Given the description of an element on the screen output the (x, y) to click on. 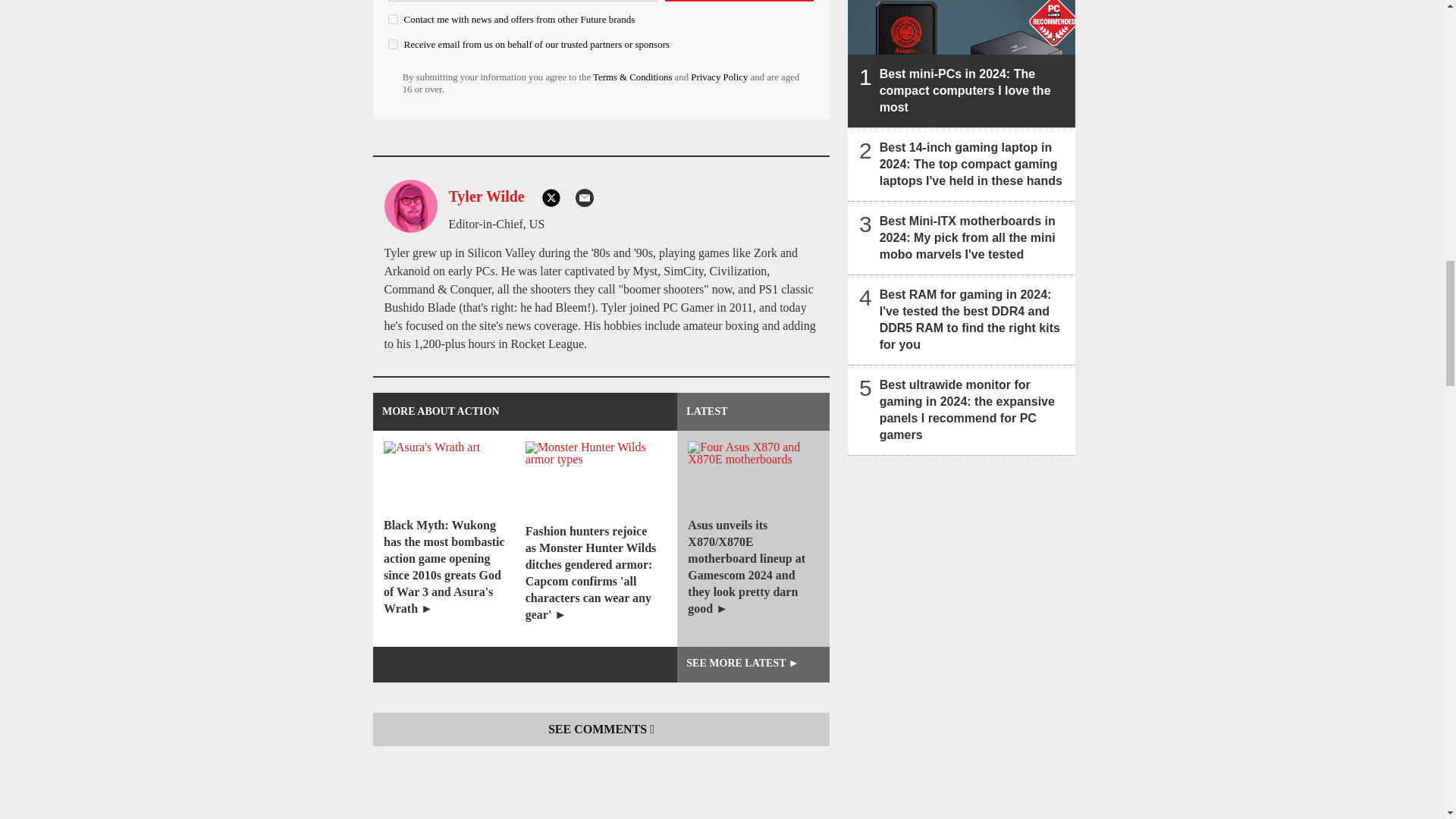
on (392, 19)
on (392, 44)
